Given the description of an element on the screen output the (x, y) to click on. 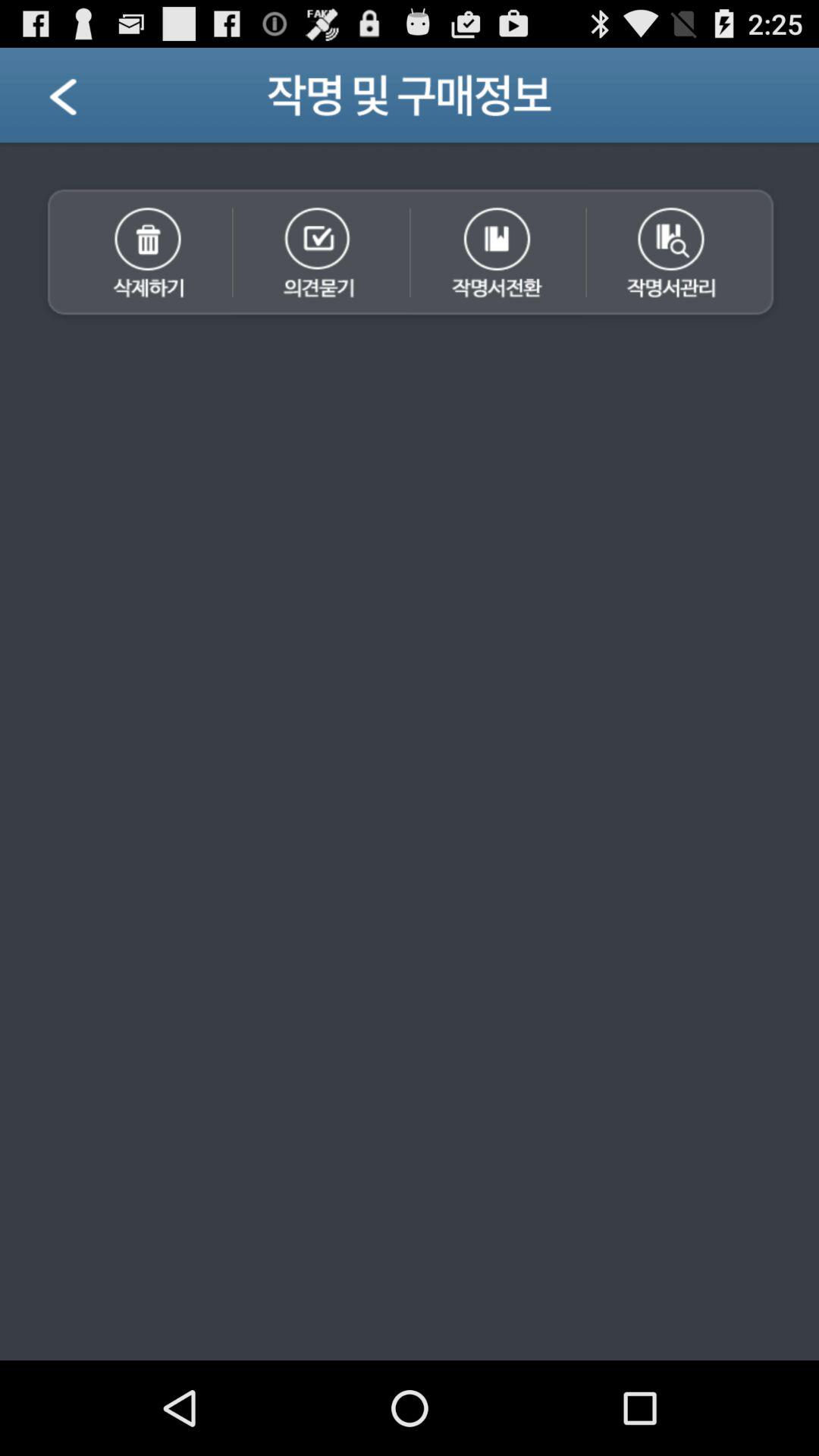
press item at the center (409, 843)
